Given the description of an element on the screen output the (x, y) to click on. 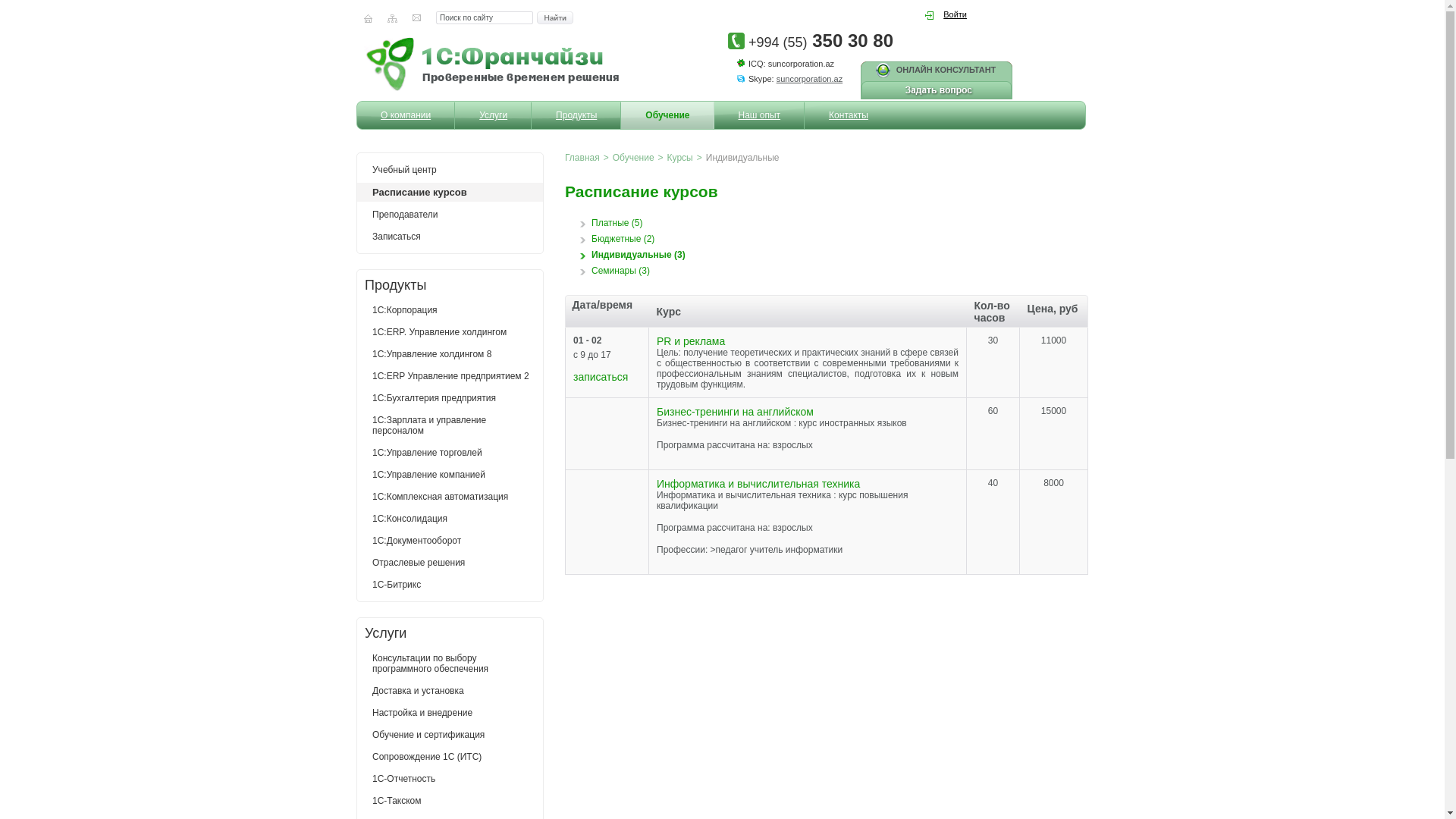
suncorporation.az Element type: text (809, 78)
